Given the description of an element on the screen output the (x, y) to click on. 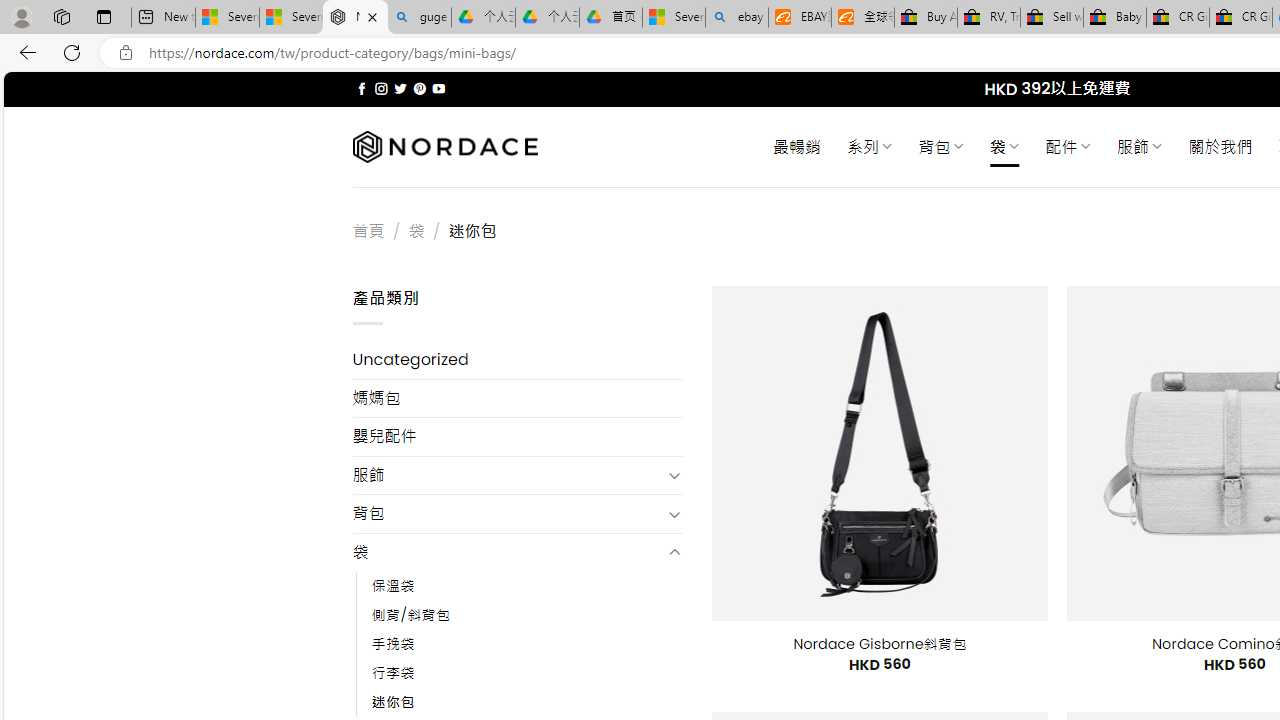
guge yunpan - Search (418, 17)
ebay - Search (736, 17)
Sell worldwide with eBay (1051, 17)
